Given the description of an element on the screen output the (x, y) to click on. 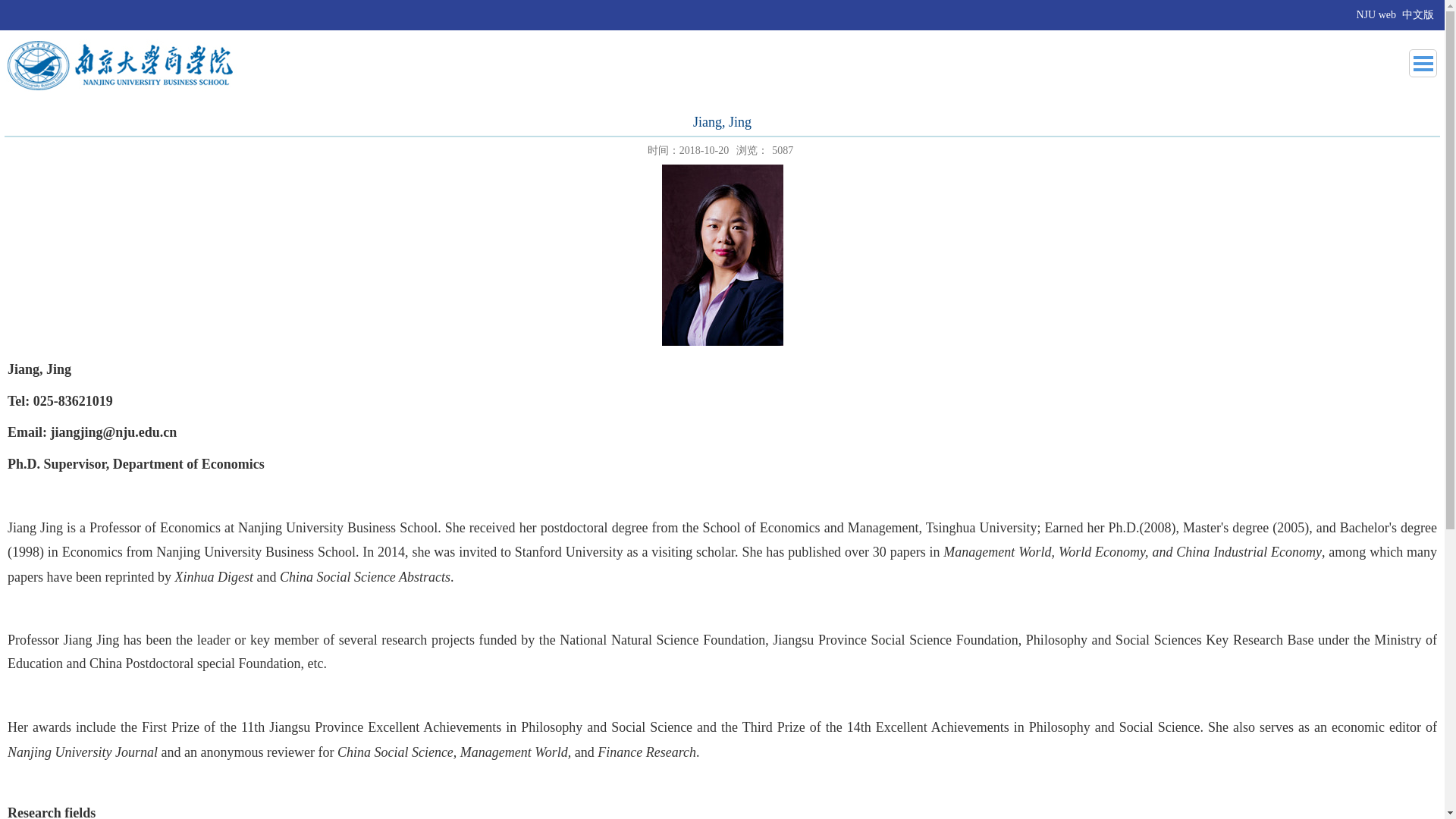
NJU web (1375, 15)
NJU web  (1375, 15)
